Given the description of an element on the screen output the (x, y) to click on. 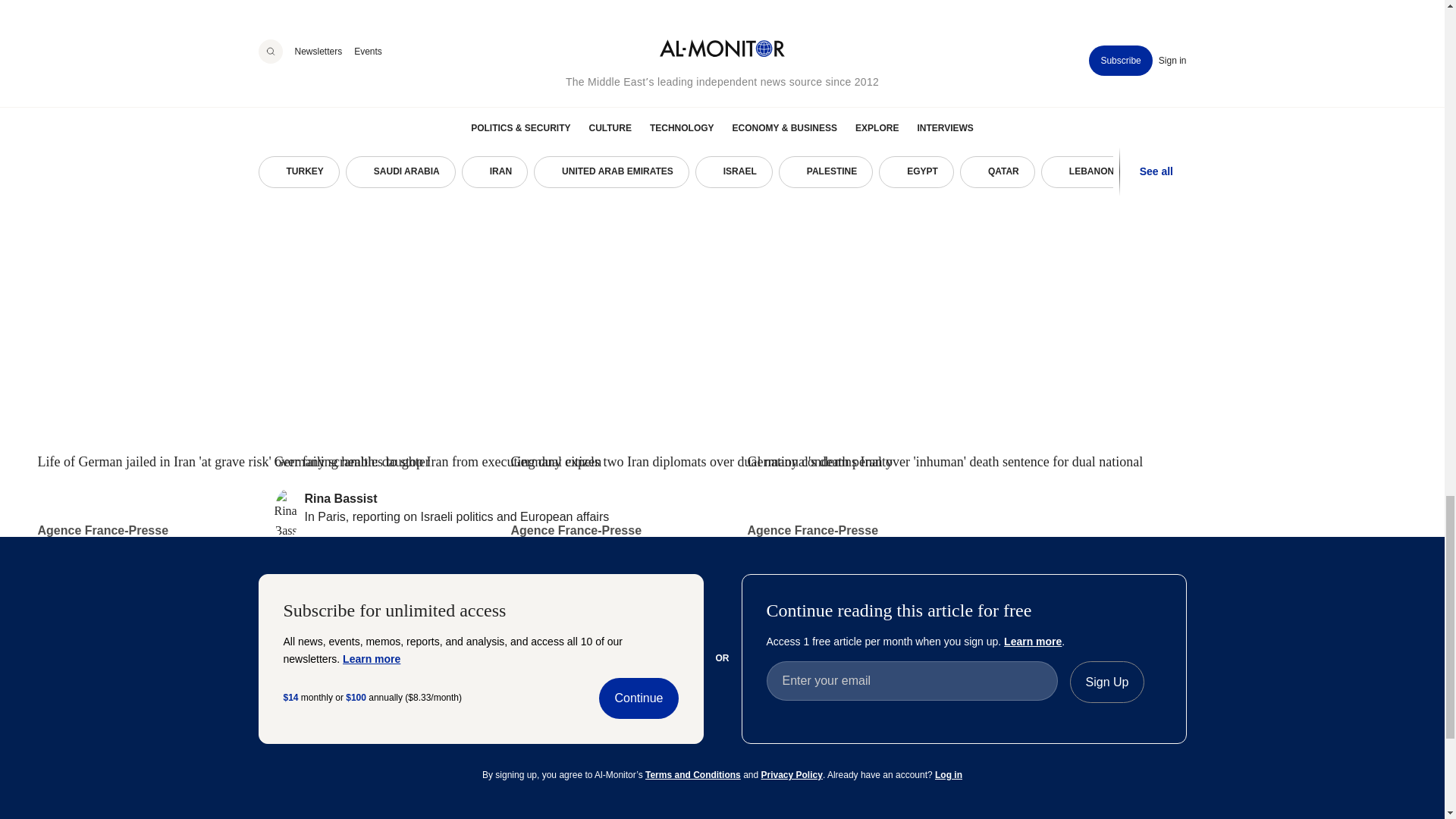
Related Articles (315, 46)
Related Articles (721, 46)
United Arab Amirates (268, 793)
